Given the description of an element on the screen output the (x, y) to click on. 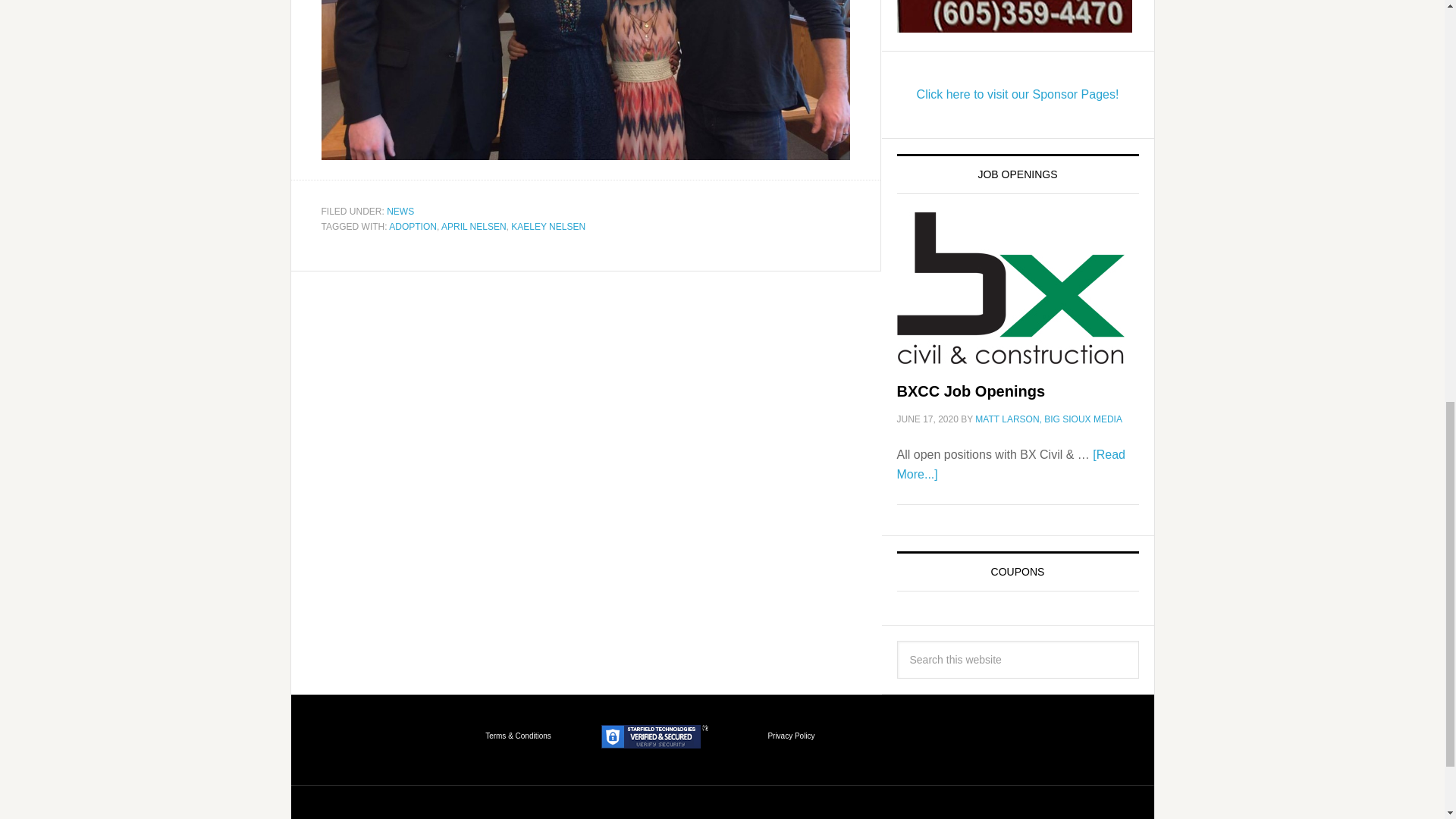
APRIL NELSEN (473, 226)
NEWS (400, 211)
Click here to visit our Sponsor Pages! (1018, 93)
BXCC Job Openings (970, 391)
MATT LARSON, BIG SIOUX MEDIA (1048, 419)
ADOPTION (412, 226)
KAELEY NELSEN (548, 226)
